Given the description of an element on the screen output the (x, y) to click on. 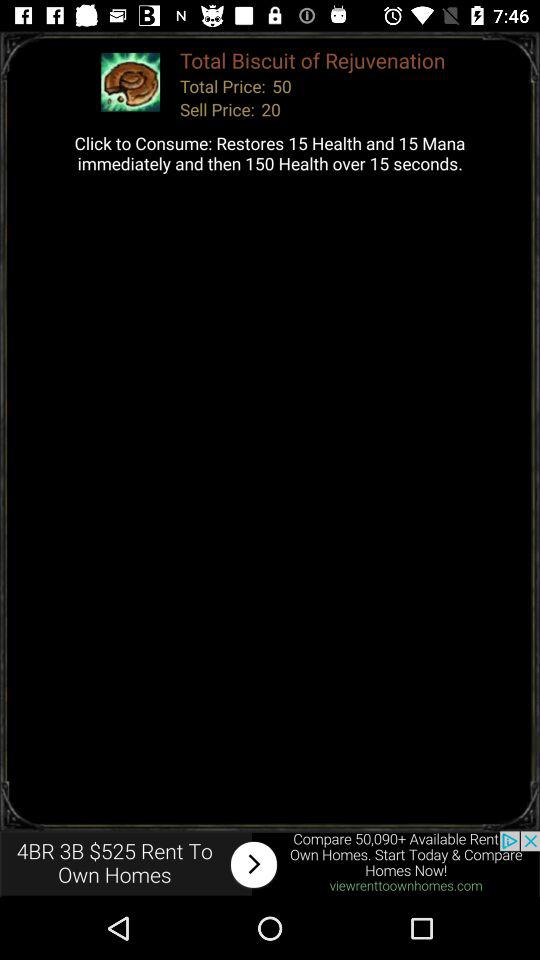
menu page (270, 864)
